Given the description of an element on the screen output the (x, y) to click on. 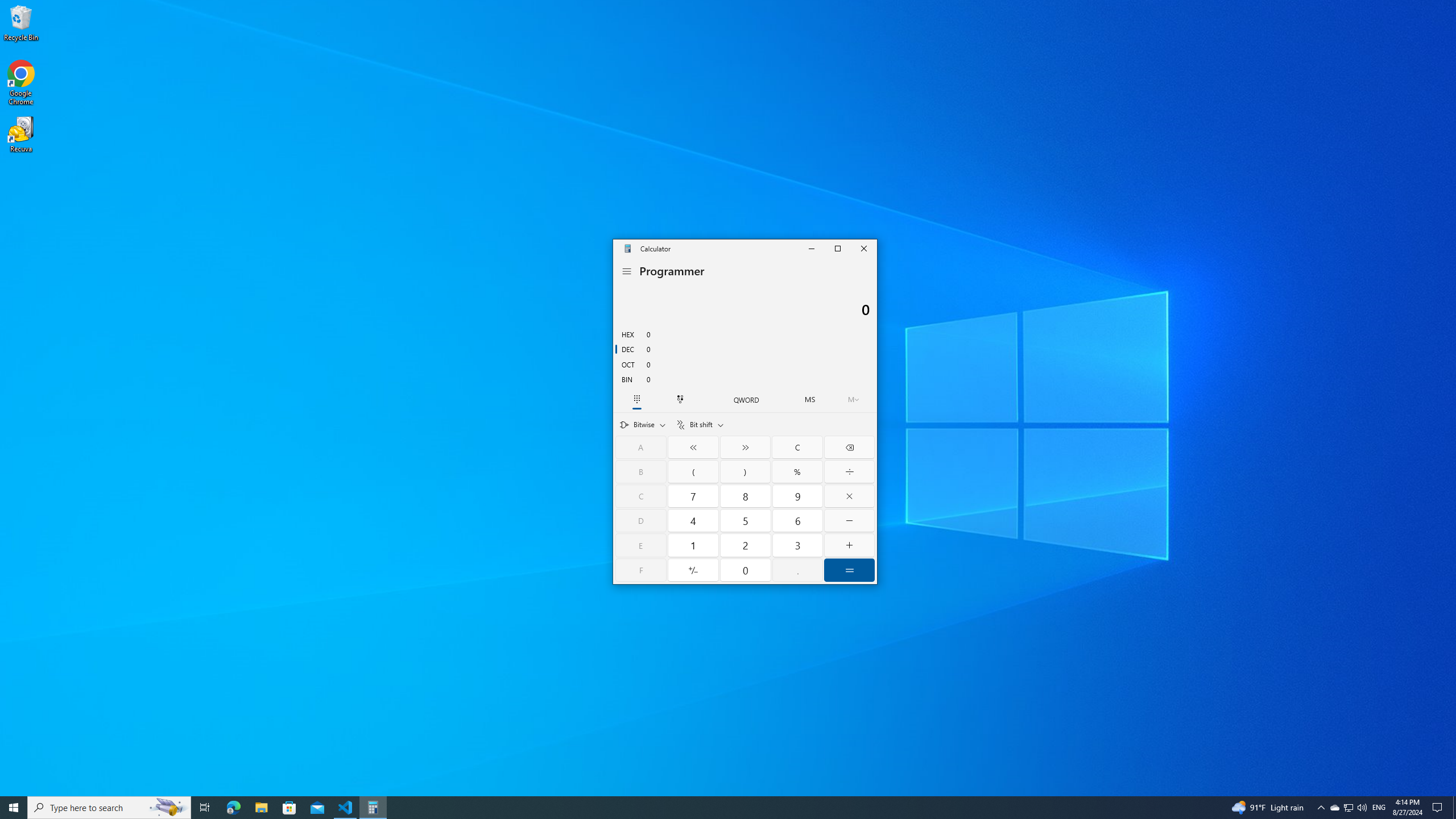
Seven (693, 495)
Bitshift (700, 423)
Two (745, 545)
Right parenthesis (745, 471)
Modulo (796, 471)
Open memory flyout (853, 399)
Calculator - 1 running window (373, 807)
